Given the description of an element on the screen output the (x, y) to click on. 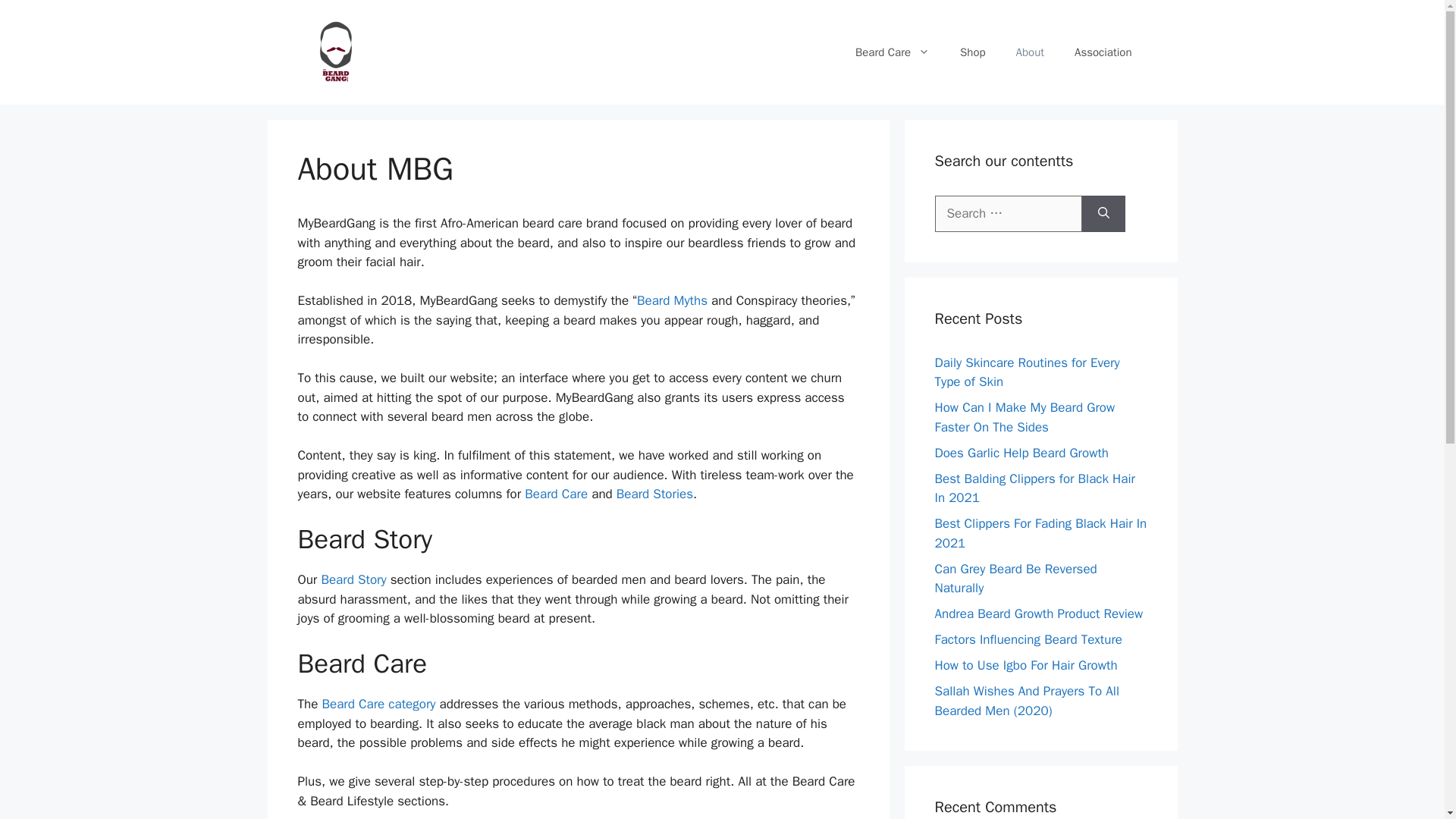
Can Grey Beard Be Reversed Naturally (1015, 579)
Daily Skincare Routines for Every Type of Skin (1026, 372)
Best Clippers For Fading Black Hair In 2021 (1040, 533)
Beard Stories (654, 494)
Search for: (1007, 213)
Shop (972, 52)
Best Balding Clippers for Black Hair In 2021 (1034, 488)
Beard Myths (672, 300)
Does Garlic Help Beard Growth (1021, 452)
Andrea Beard Growth Product Review (1038, 613)
